Given the description of an element on the screen output the (x, y) to click on. 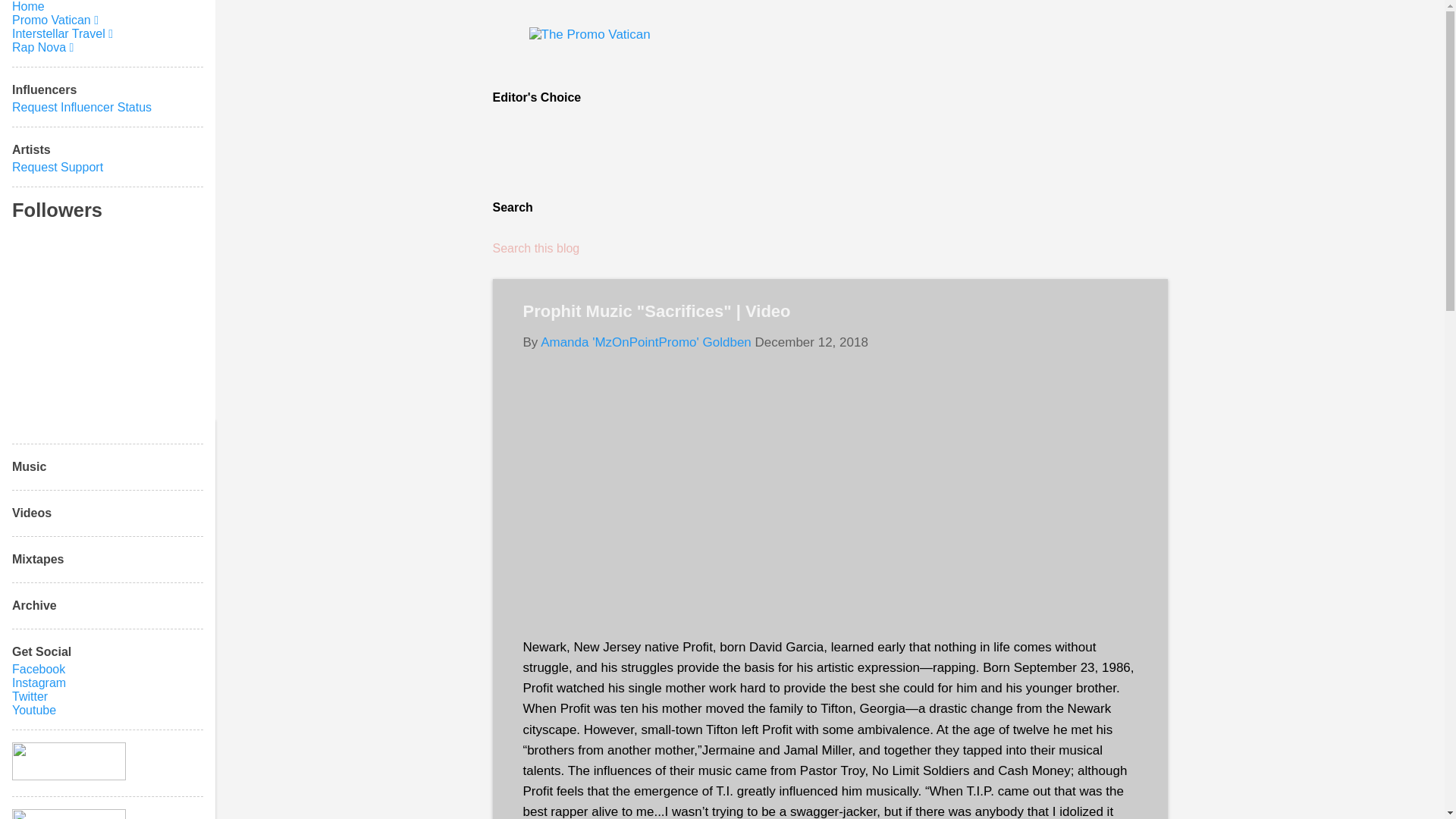
Request Support (57, 166)
author profile (645, 341)
Request Influencer Status (81, 106)
Home (28, 6)
permanent link (811, 341)
Search (33, 18)
December 12, 2018 (811, 341)
Amanda 'MzOnPointPromo' Goldben (645, 341)
